Given the description of an element on the screen output the (x, y) to click on. 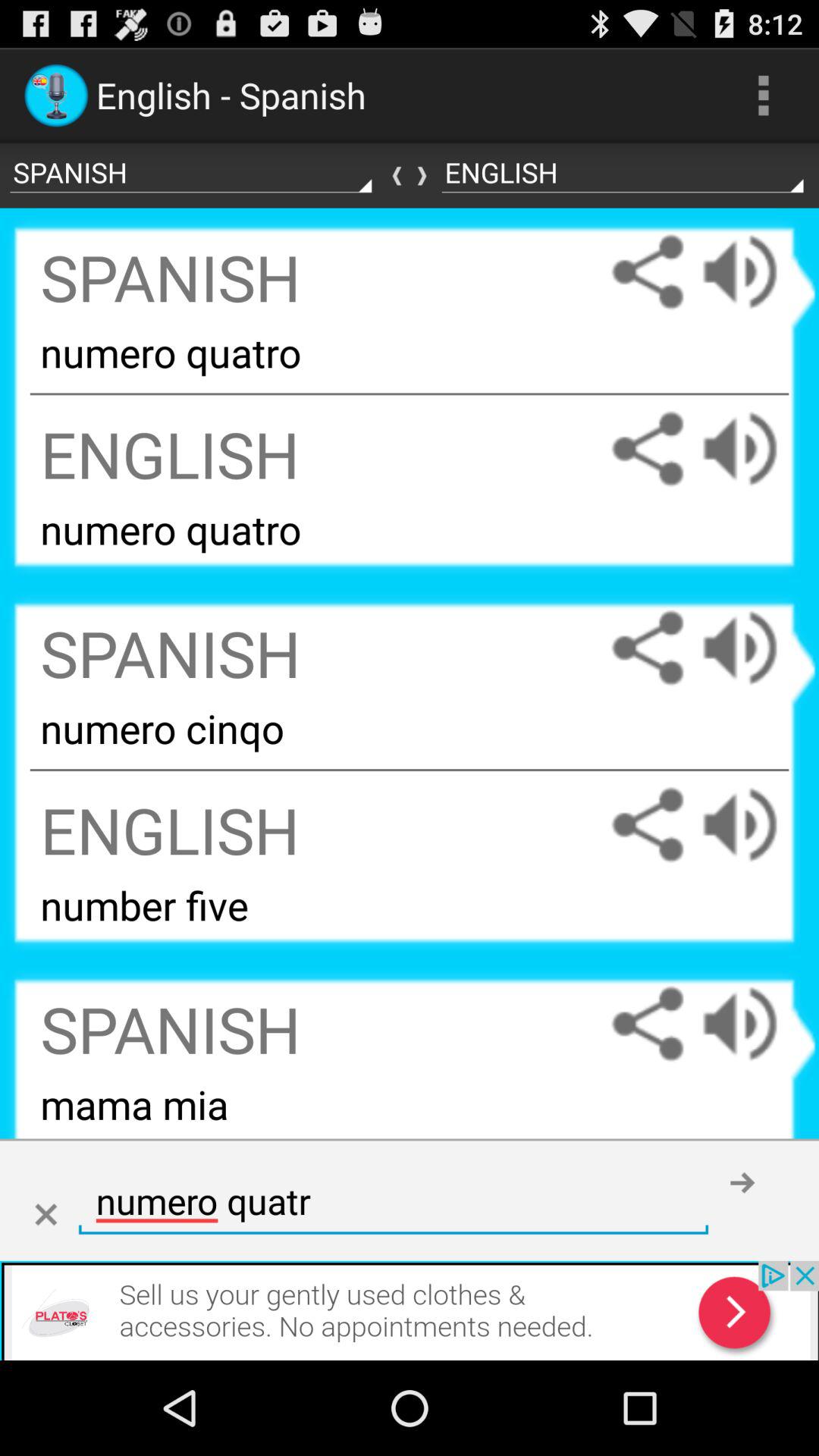
play audio (754, 448)
